Given the description of an element on the screen output the (x, y) to click on. 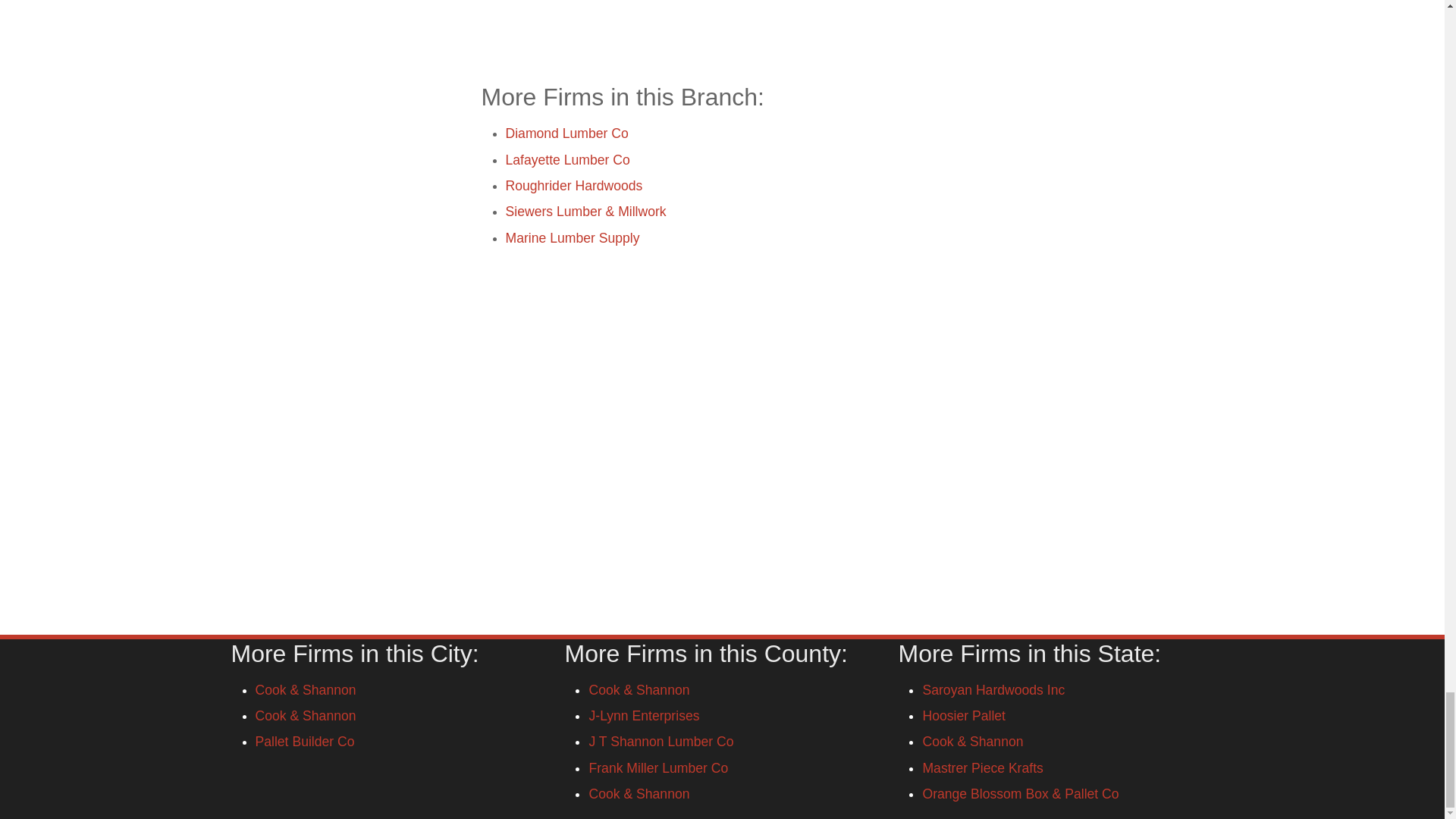
Lafayette Lumber Co (566, 159)
Roughrider Hardwoods (573, 185)
Marine Lumber Supply (572, 237)
Diamond Lumber Co (566, 133)
